Given the description of an element on the screen output the (x, y) to click on. 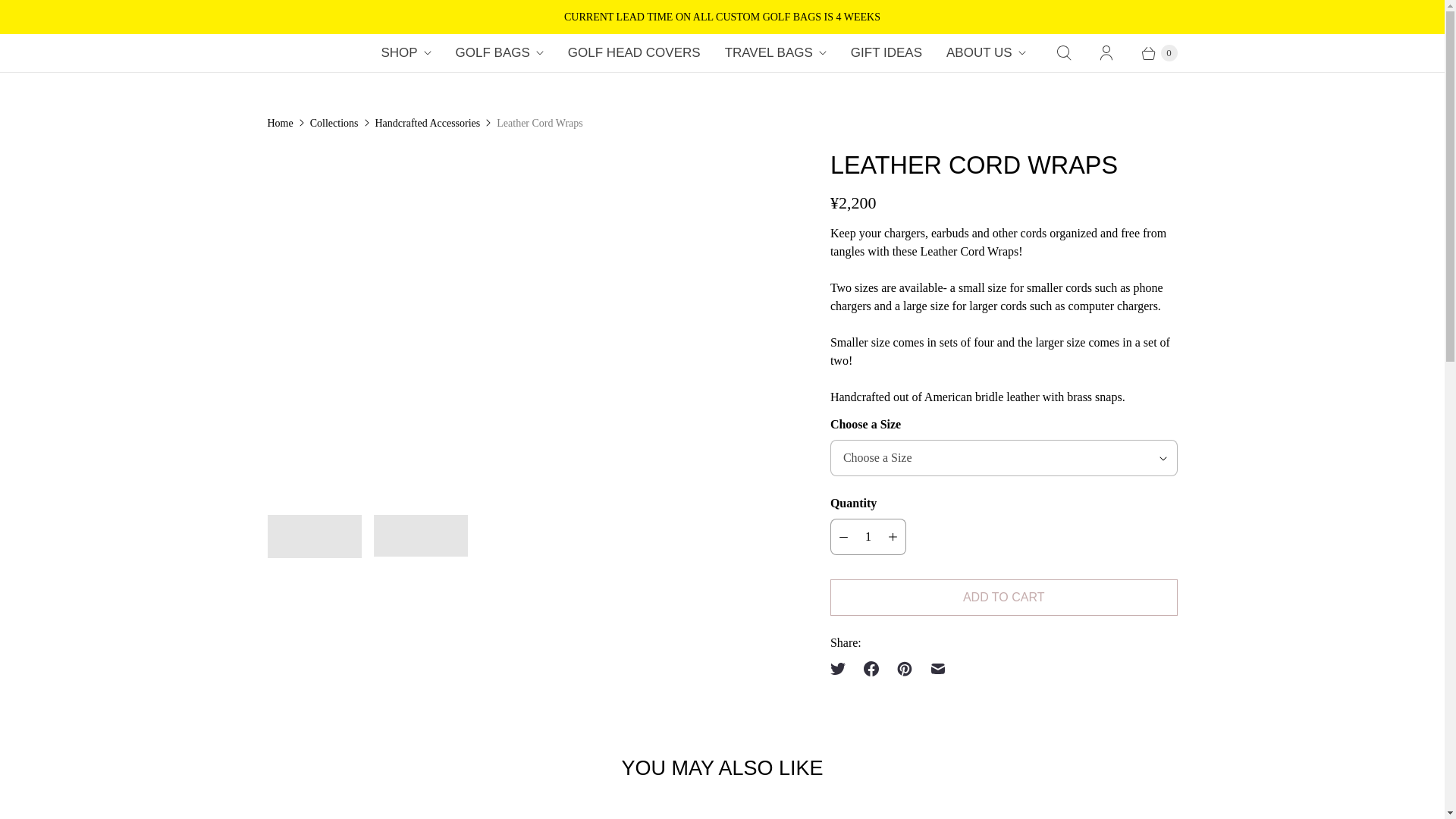
GIFT IDEAS (886, 53)
Share this on Facebook (871, 668)
GOLF HEAD COVERS (634, 53)
Share this on Pinterest (904, 668)
Email this to a friend (938, 668)
